Given the description of an element on the screen output the (x, y) to click on. 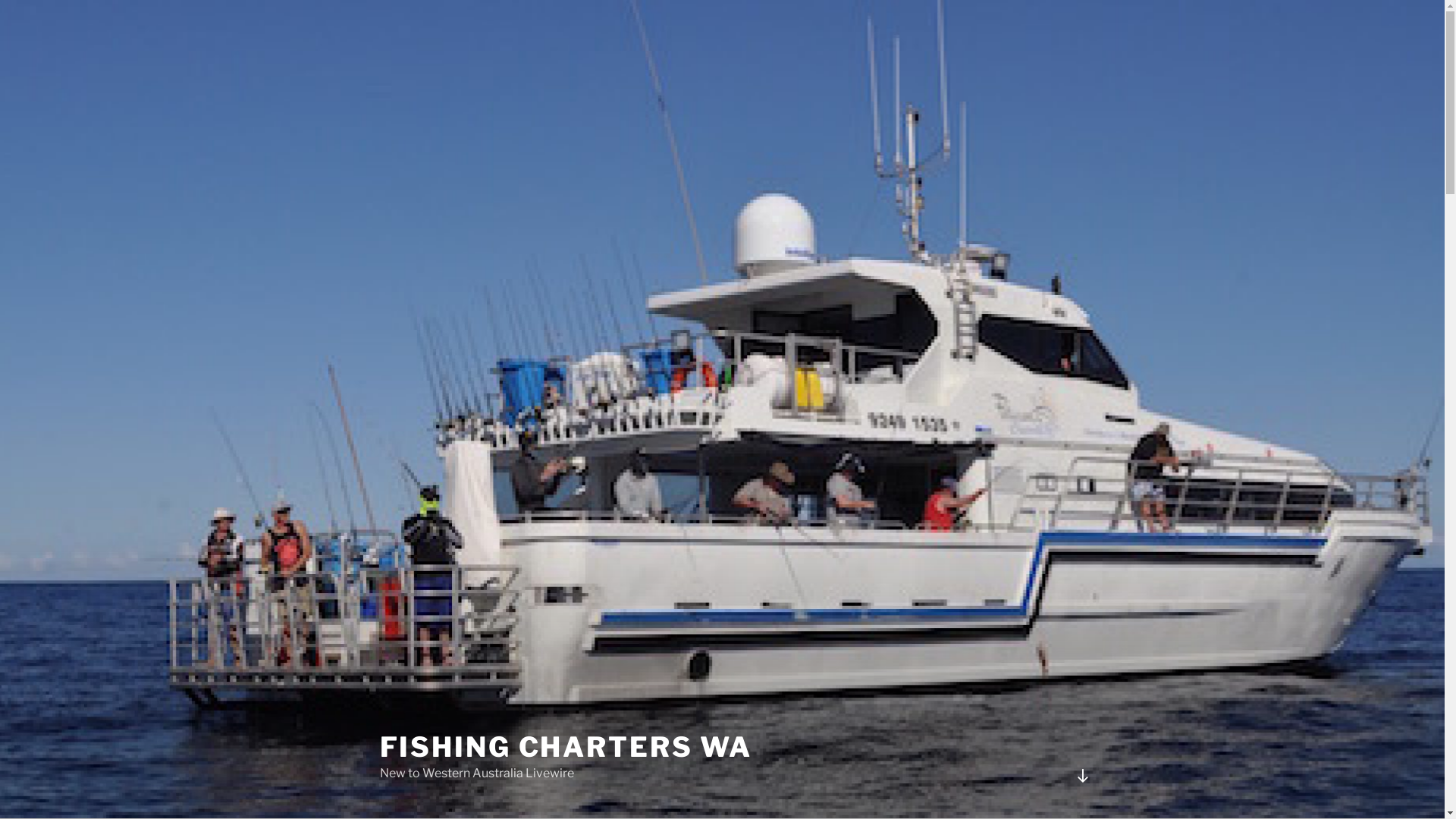
FISHING CHARTERS WA Element type: text (565, 746)
Scroll down to content Element type: text (1082, 775)
